Given the description of an element on the screen output the (x, y) to click on. 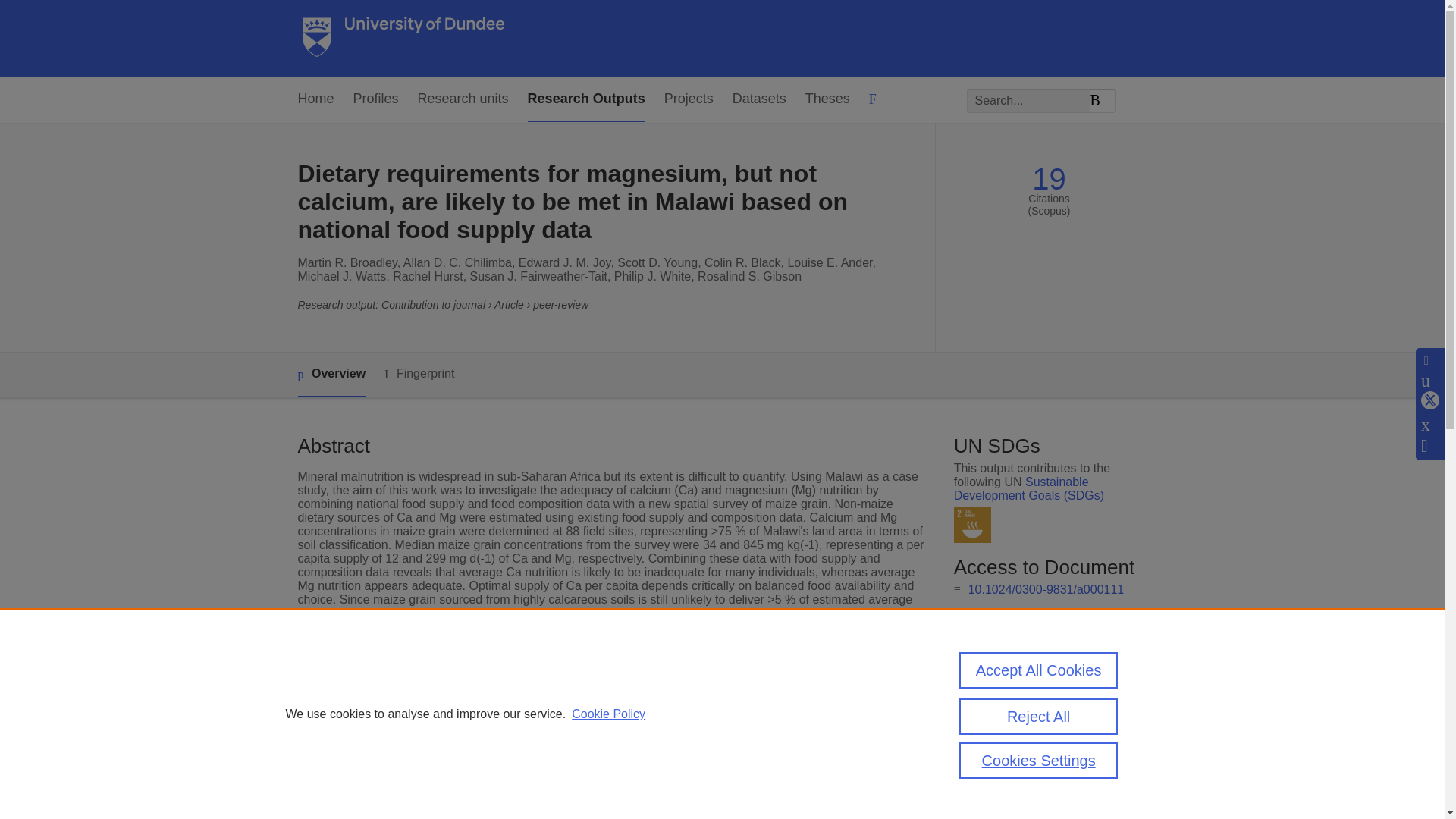
Projects (688, 99)
SDG 2 - Zero Hunger (972, 524)
Overview (331, 374)
Discovery - the University of Dundee Research Portal Home (404, 38)
International Journal for Vitamin and Nutrition Research (653, 717)
Fingerprint (419, 373)
Datasets (759, 99)
19 (1048, 179)
Profiles (375, 99)
Research units (462, 99)
